Given the description of an element on the screen output the (x, y) to click on. 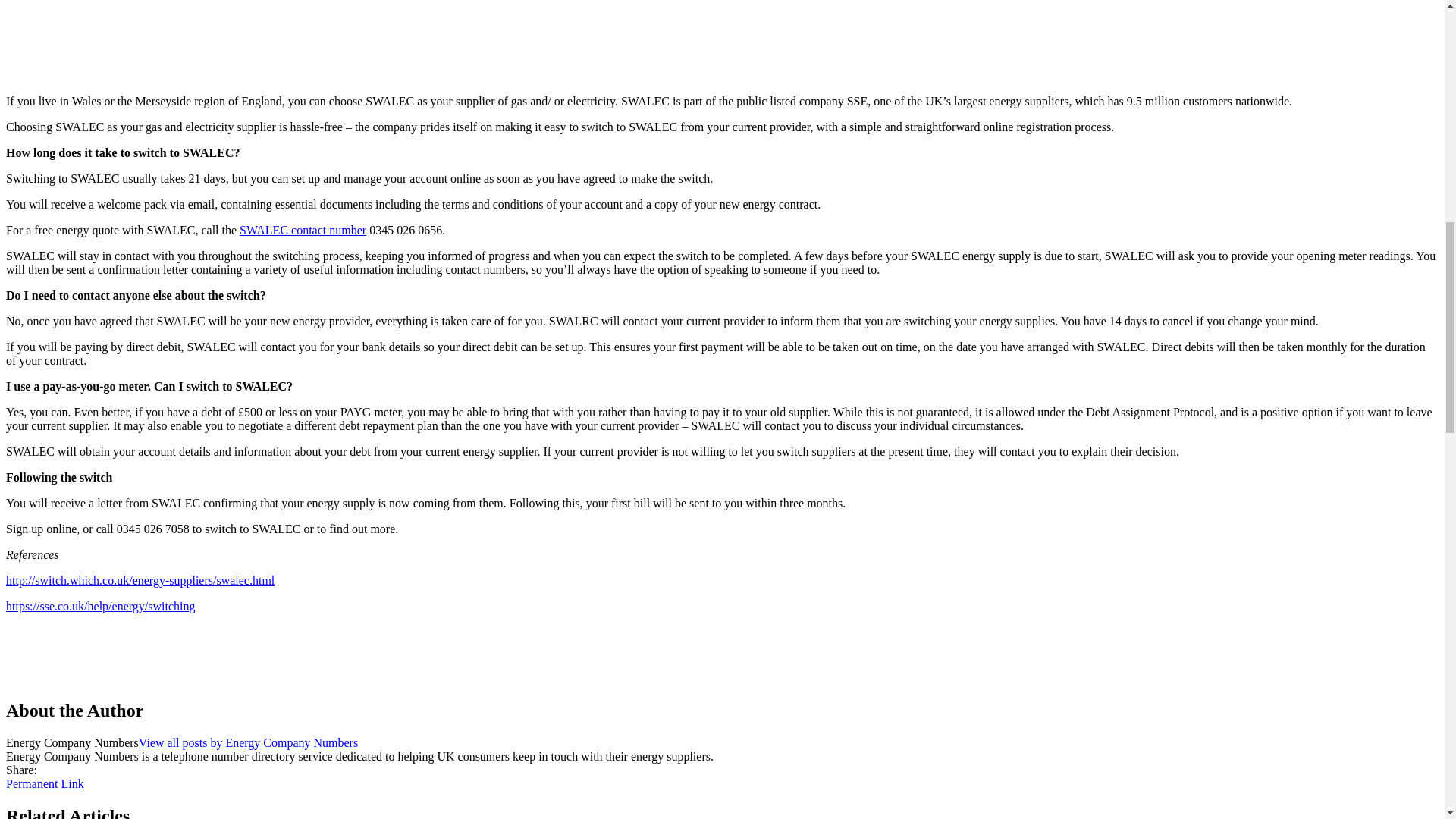
SWALEC contact number (303, 229)
View all posts by Energy Company Numbers (248, 742)
Permanent Link (44, 783)
